Given the description of an element on the screen output the (x, y) to click on. 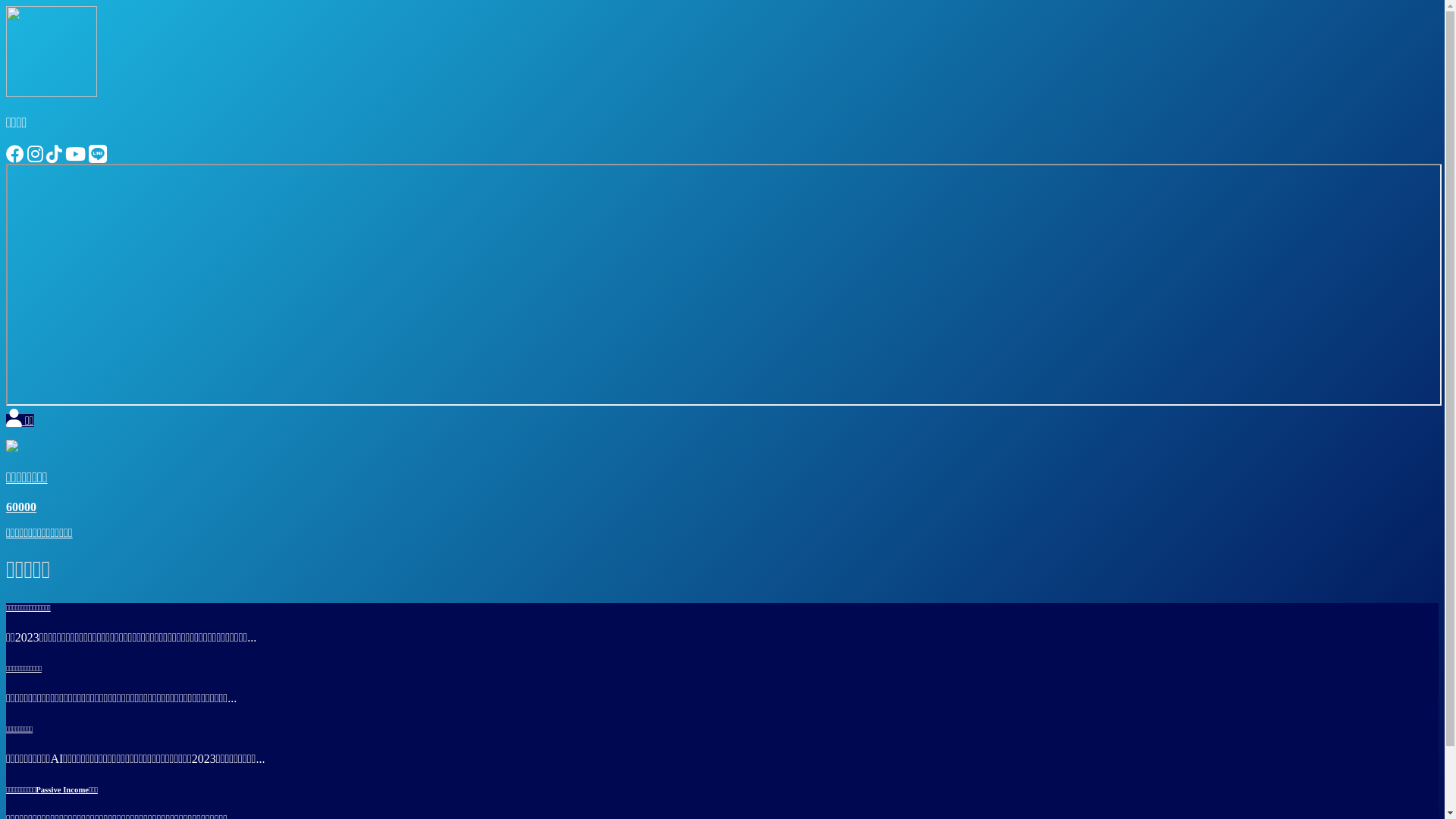
Facebook Element type: hover (15, 156)
Line Element type: hover (97, 156)
Instagram Element type: hover (35, 156)
Youtube Element type: hover (75, 156)
Tiktok Element type: hover (54, 156)
